Given the description of an element on the screen output the (x, y) to click on. 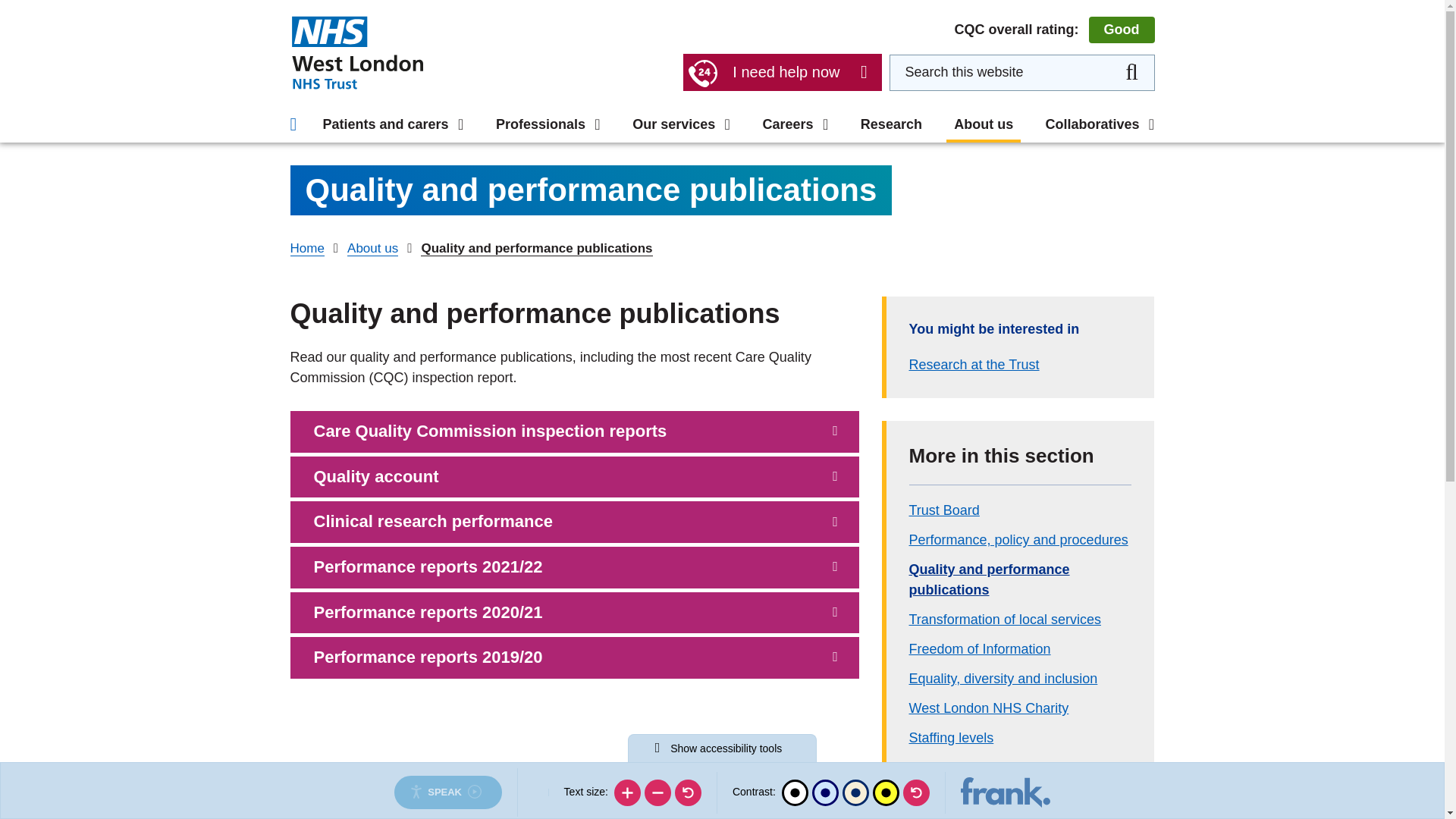
Professionals (547, 124)
CQC overall rating: Good (1053, 29)
West London learning (973, 85)
Professionals (362, 4)
Listen with the ReachDeck Toolbar (447, 792)
Support for patients (362, 8)
Our services (681, 124)
Your records and personal information (724, 8)
Homepage (356, 51)
Patient and carer involvement and co-production (721, 55)
